Given the description of an element on the screen output the (x, y) to click on. 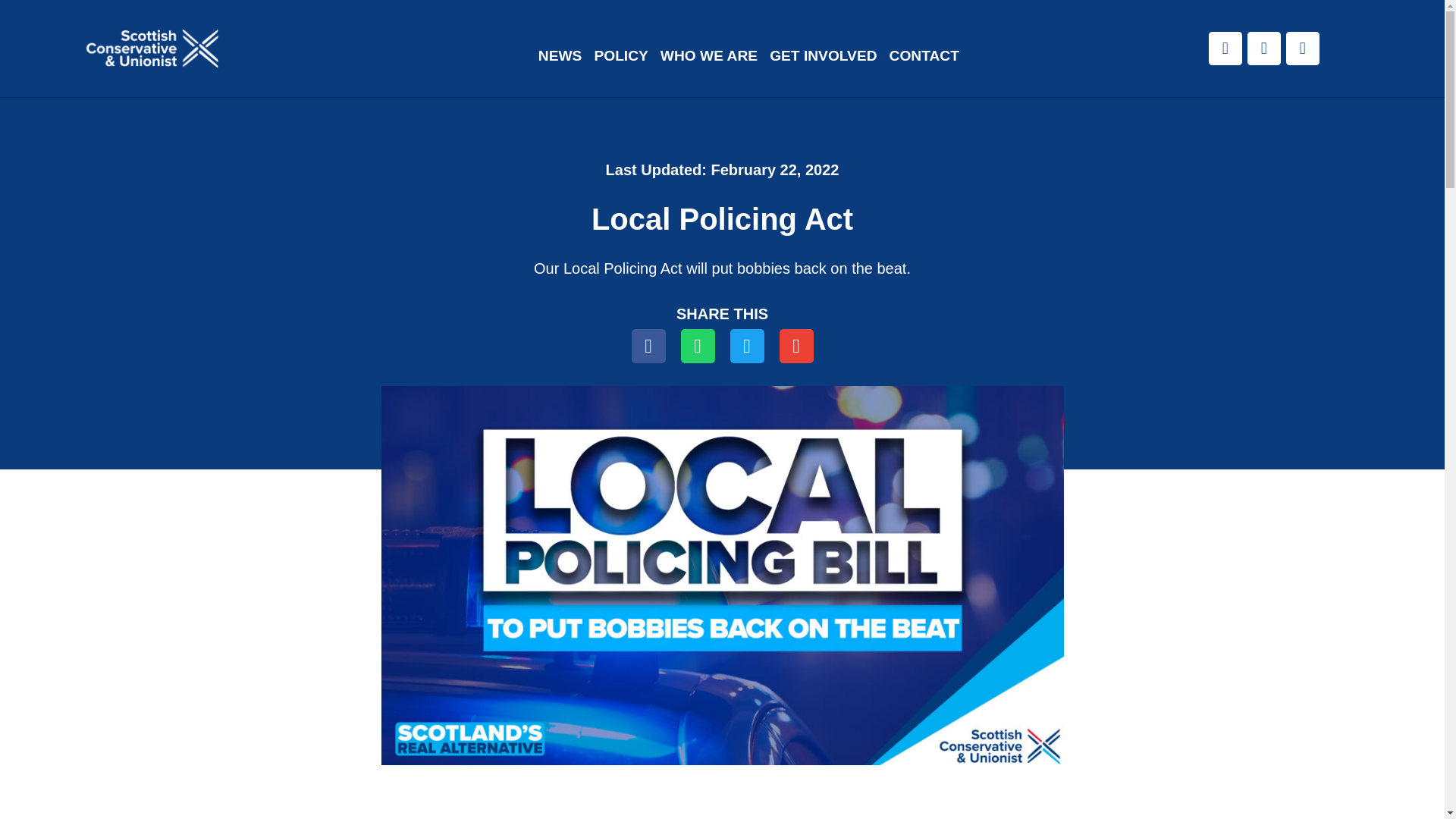
CONTACT (923, 55)
POLICY (620, 55)
GET INVOLVED (823, 55)
WHO WE ARE (708, 55)
NEWS (560, 55)
